Given the description of an element on the screen output the (x, y) to click on. 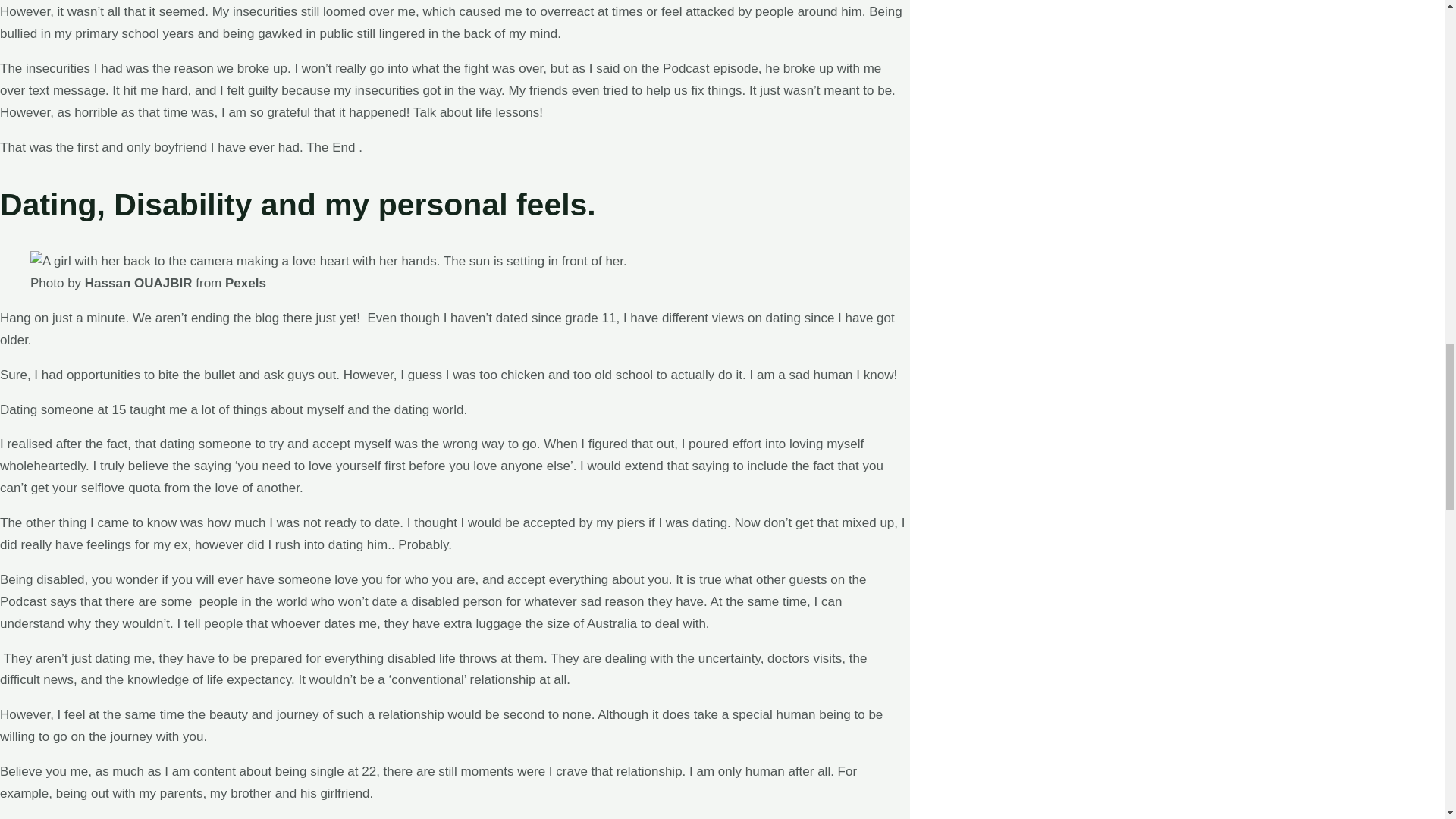
Pexels (245, 283)
Hassan OUAJBIR (138, 283)
